Given the description of an element on the screen output the (x, y) to click on. 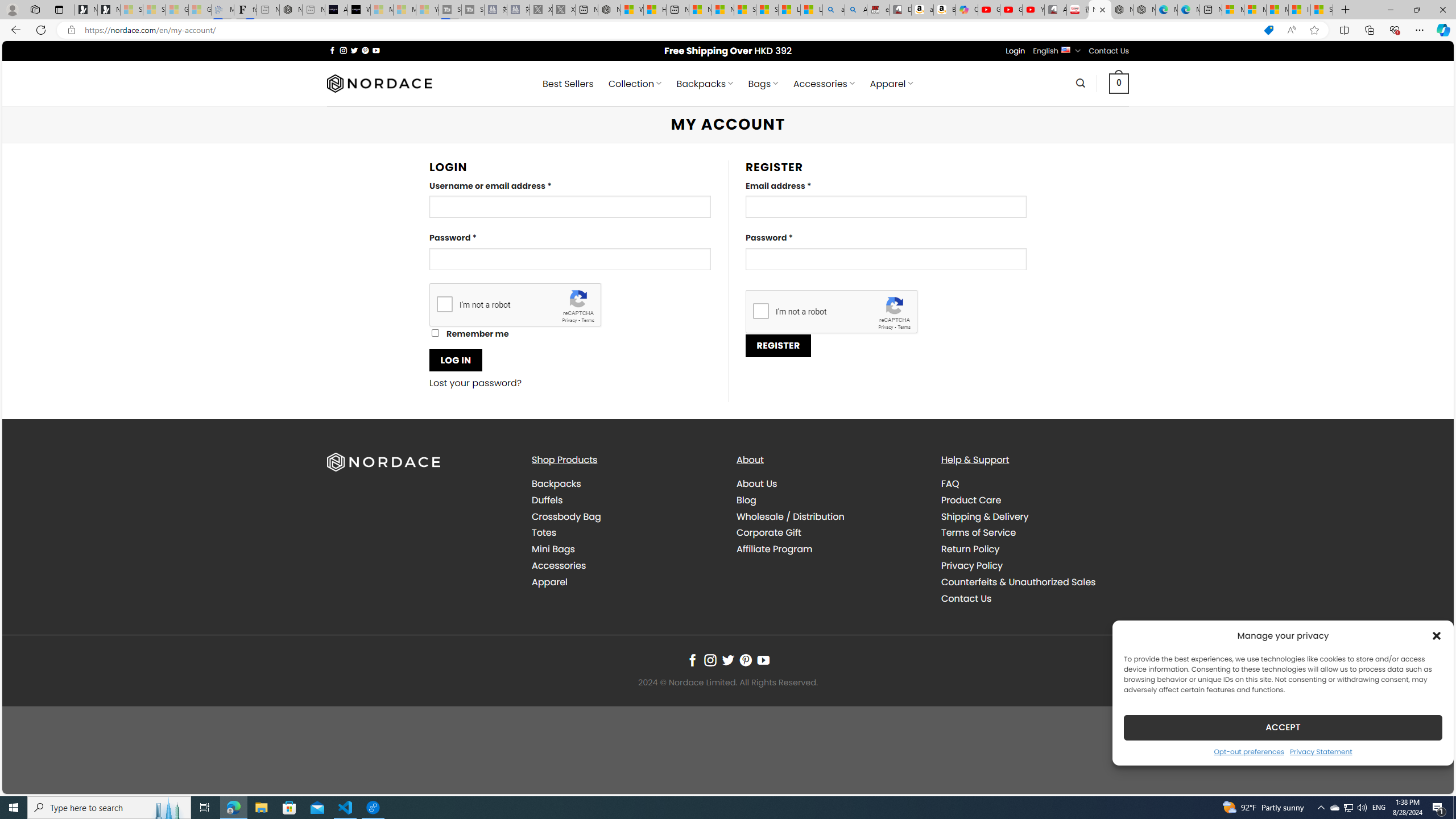
Amazon Echo Dot PNG - Search Images (856, 9)
Shipping & Delivery (1034, 516)
Go to top (1430, 777)
Backpacks (625, 483)
Product Care (970, 499)
Affiliate Program (830, 549)
 Best Sellers (568, 83)
FAQ (1034, 483)
